Given the description of an element on the screen output the (x, y) to click on. 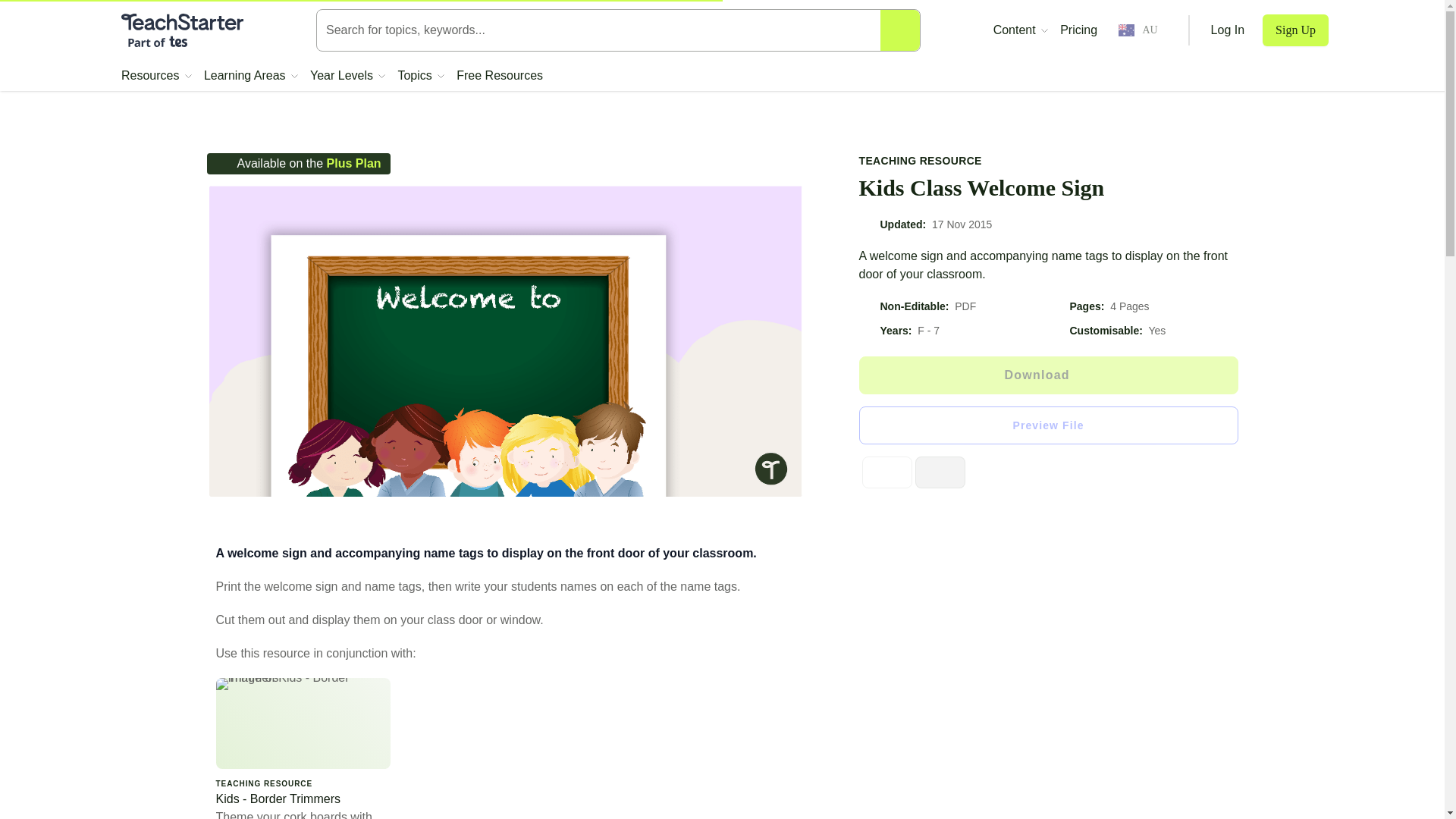
Change location (1138, 30)
Sign Up (1294, 29)
Resources (156, 75)
AU (1138, 30)
Blog, podcast, and webinars (1020, 30)
Back to homepage (181, 29)
Teach Starter, part of Tes (181, 29)
Log in to your account (1227, 30)
Content  (1020, 30)
Pricing (1078, 30)
